Given the description of an element on the screen output the (x, y) to click on. 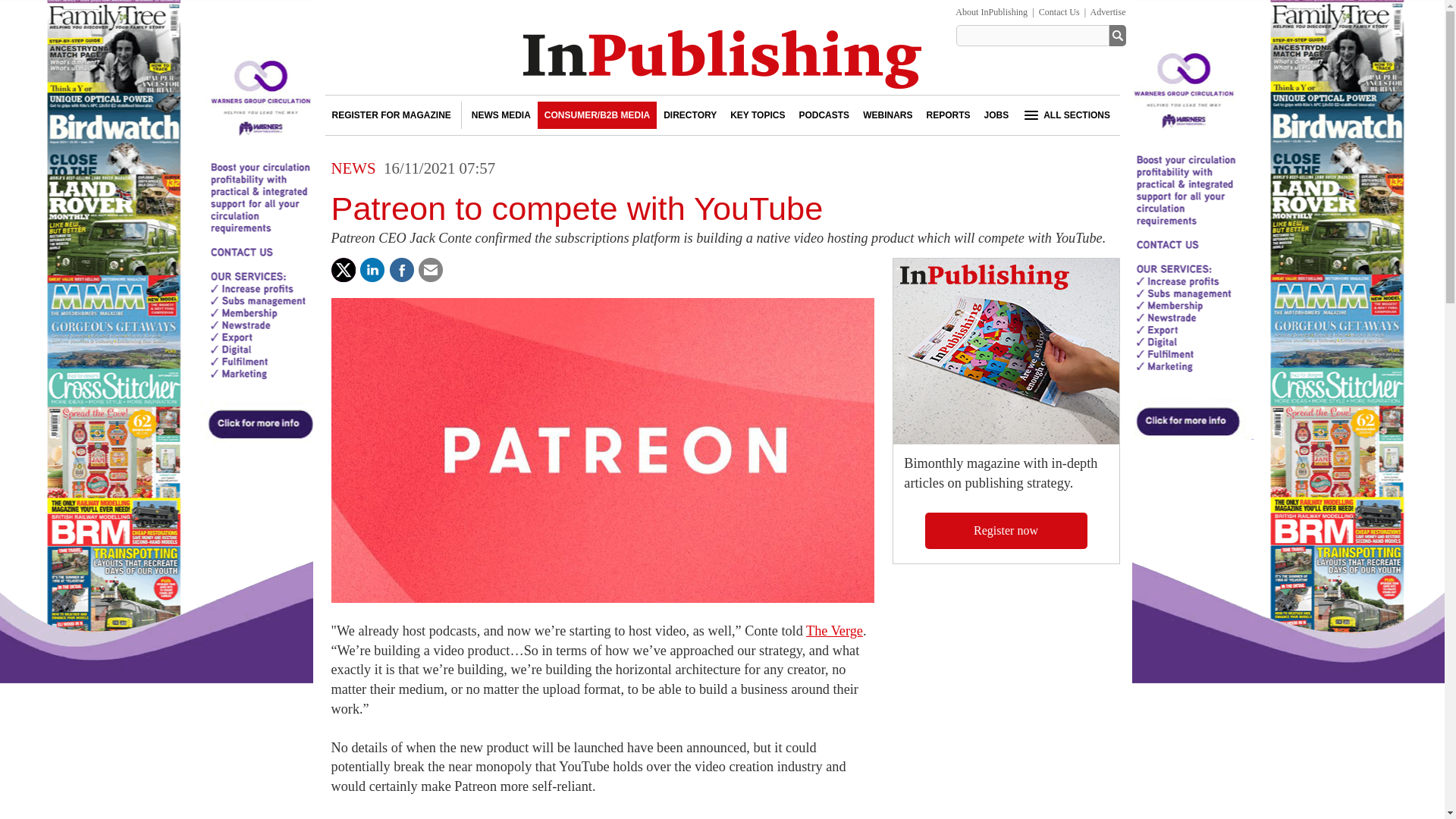
Advertise (1107, 11)
DIRECTORY (689, 114)
JOBS (995, 114)
PODCASTS (824, 114)
The Verge (834, 630)
KEY TOPICS (757, 114)
REGISTER FOR MAGAZINE (390, 114)
ALL SECTIONS (1065, 114)
WEBINARS (887, 114)
Contact Us (1059, 11)
